Given the description of an element on the screen output the (x, y) to click on. 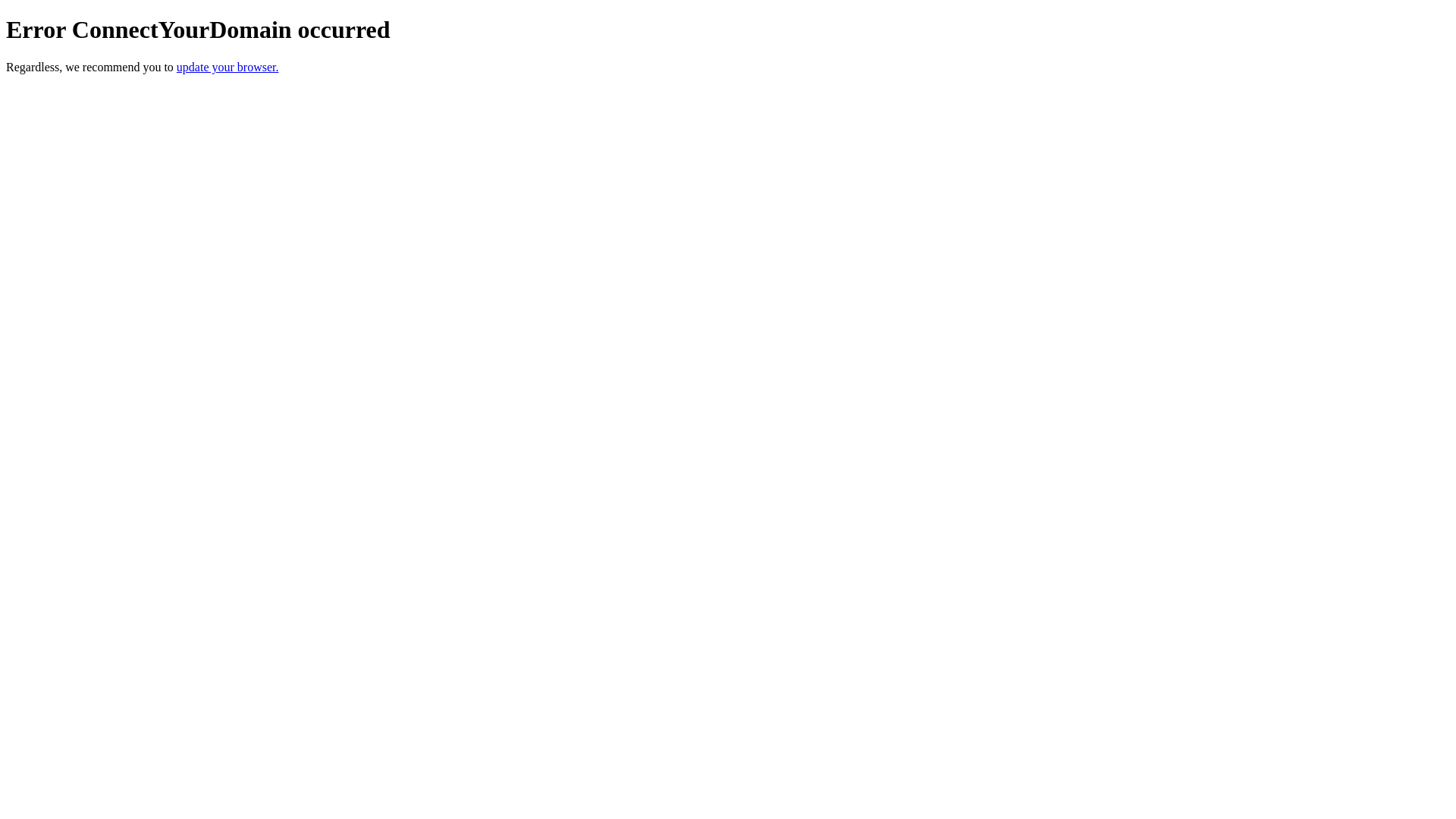
update your browser. Element type: text (227, 66)
